Given the description of an element on the screen output the (x, y) to click on. 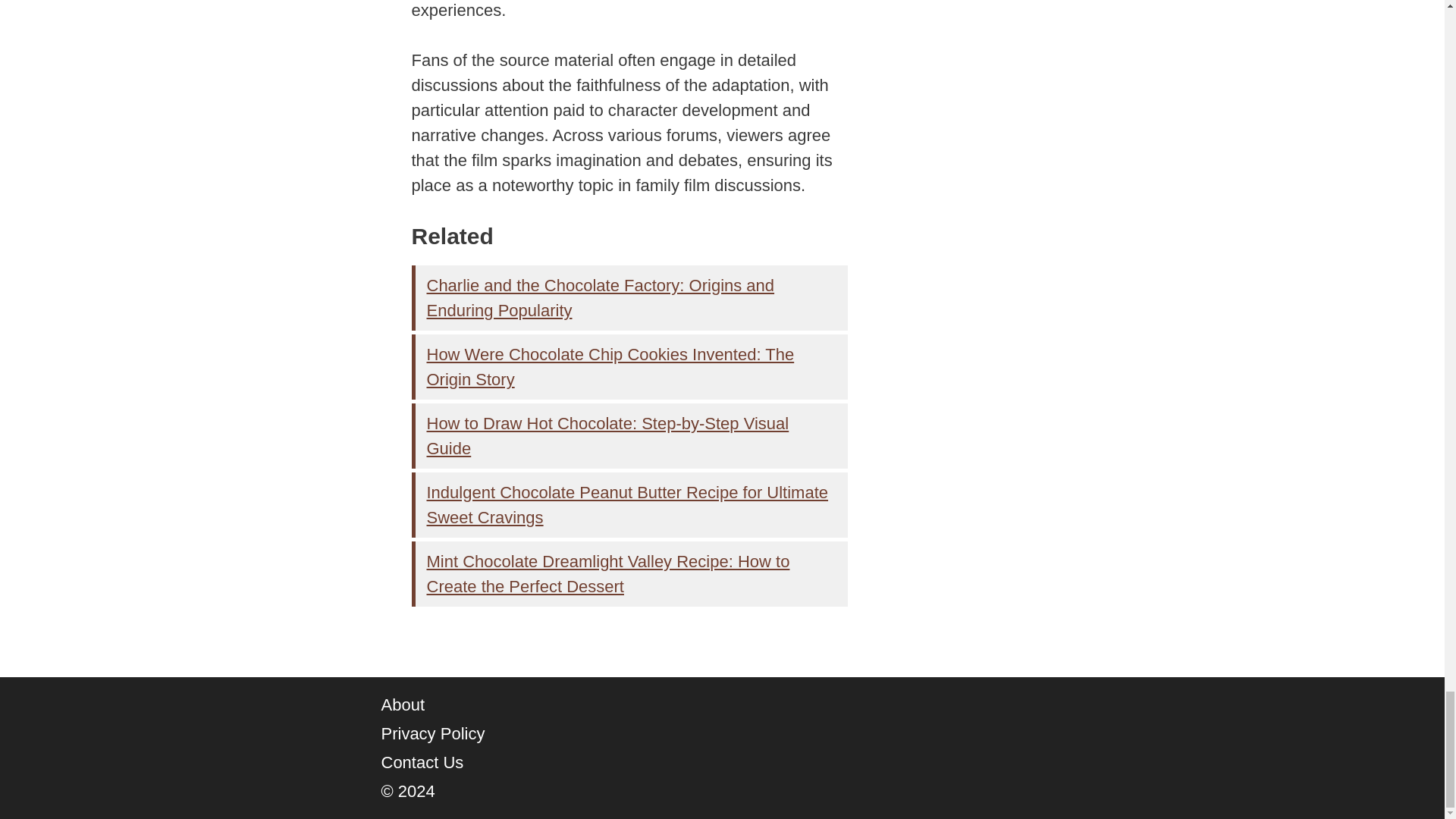
How Were Chocolate Chip Cookies Invented: The Origin Story (609, 366)
About (402, 704)
Contact Us (421, 762)
How to Draw Hot Chocolate: Step-by-Step Visual Guide (607, 435)
How Were Chocolate Chip Cookies Invented: The Origin Story (609, 366)
How to Draw Hot Chocolate: Step-by-Step Visual Guide (607, 435)
Privacy Policy (432, 732)
